Given the description of an element on the screen output the (x, y) to click on. 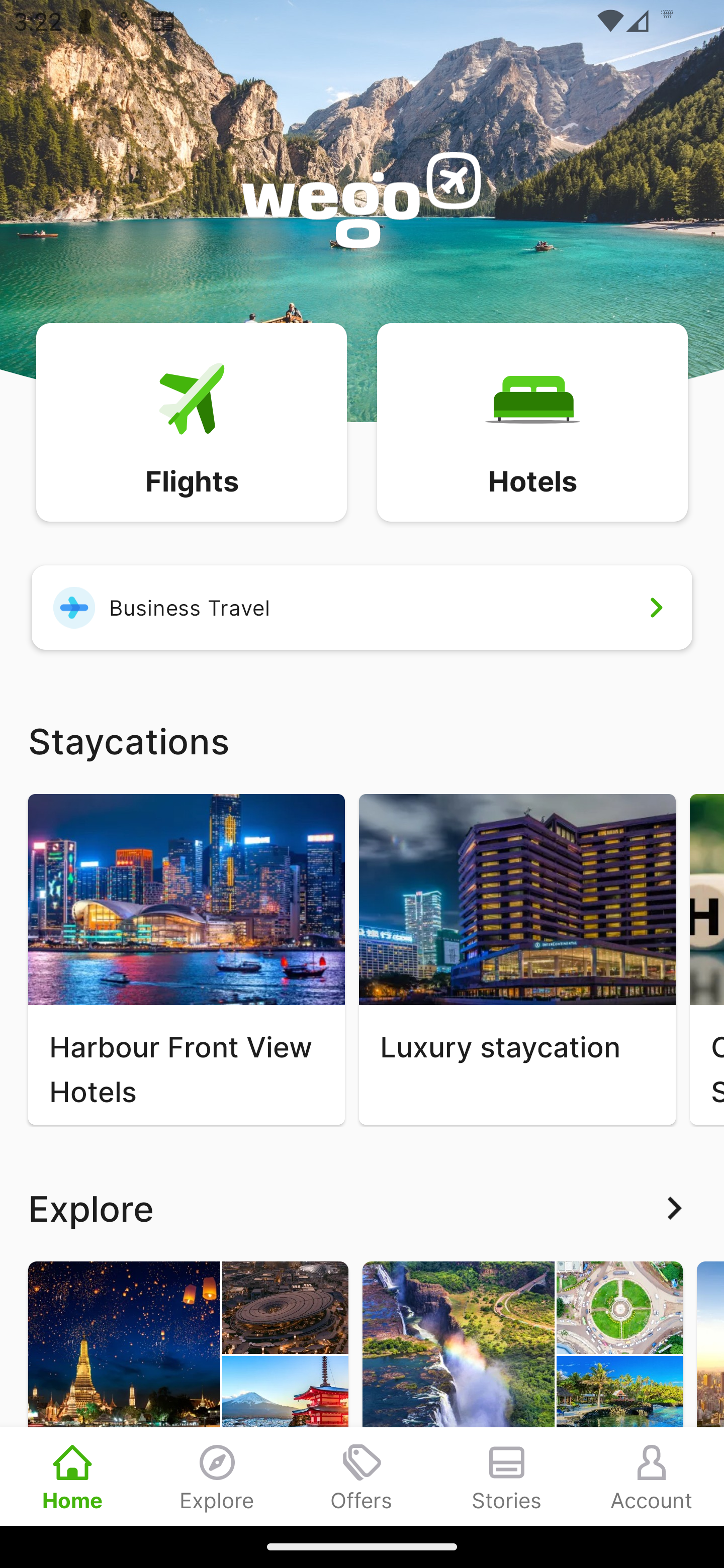
Flights (191, 420)
Hotels (532, 420)
Business Travel (361, 607)
Staycations (362, 739)
Harbour Front View Hotels (186, 958)
Luxury staycation (517, 958)
Explore (362, 1207)
Popular Destinations (188, 1392)
Visa-free Countries (522, 1392)
Explore (216, 1475)
Offers (361, 1475)
Stories (506, 1475)
Account (651, 1475)
